Given the description of an element on the screen output the (x, y) to click on. 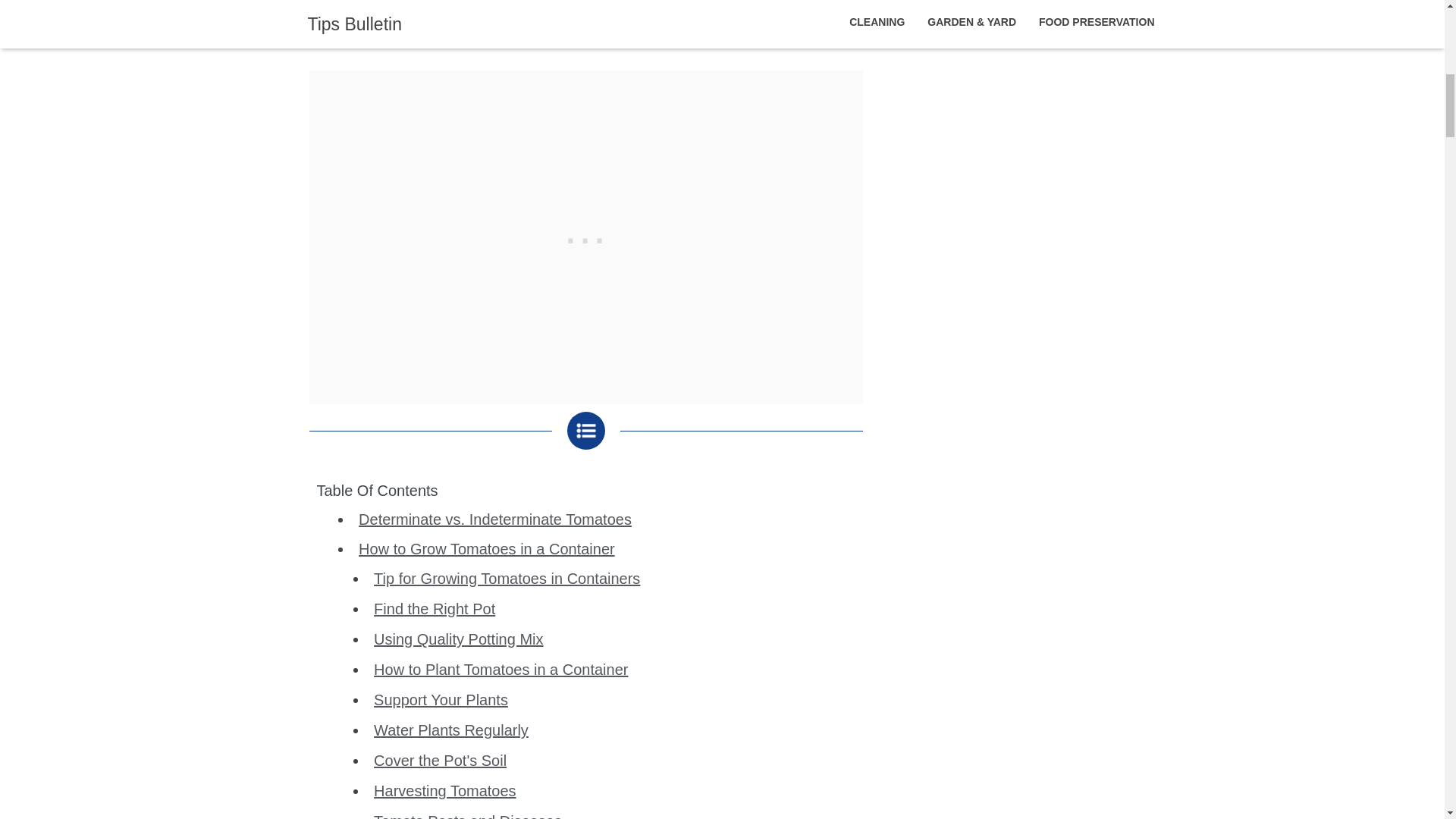
Support Your Plants (441, 699)
Using Quality Potting Mix (458, 638)
Determinate vs. Indeterminate Tomatoes (494, 519)
Tomato Pests and Diseases (468, 816)
How to Plant Tomatoes in a Container (500, 669)
How to Grow Tomatoes in a Container (486, 548)
Cover the Pot's Soil (440, 760)
Harvesting Tomatoes (445, 790)
Tip for Growing Tomatoes in Containers (507, 578)
Water Plants Regularly (451, 729)
Find the Right Pot (434, 608)
